Given the description of an element on the screen output the (x, y) to click on. 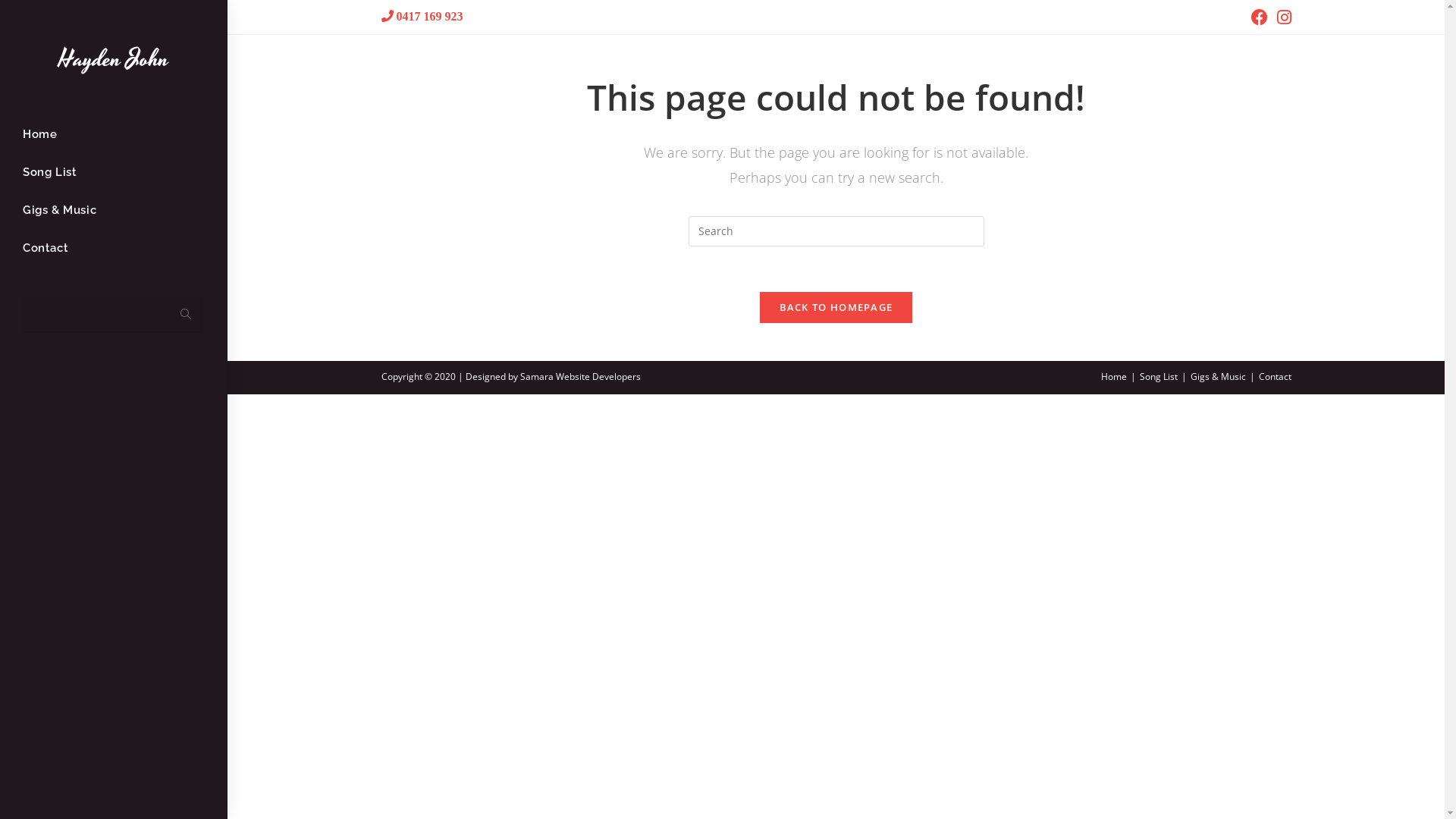
Home Element type: text (113, 134)
Contact Element type: text (113, 247)
Song List Element type: text (1157, 376)
Song List Element type: text (113, 172)
BACK TO HOMEPAGE Element type: text (836, 307)
Hayden John Element type: text (114, 59)
Gigs & Music Element type: text (113, 210)
Samara Website Developers Element type: text (580, 376)
Gigs & Music Element type: text (1217, 376)
Home Element type: text (1113, 376)
Contact Element type: text (1274, 376)
